Given the description of an element on the screen output the (x, y) to click on. 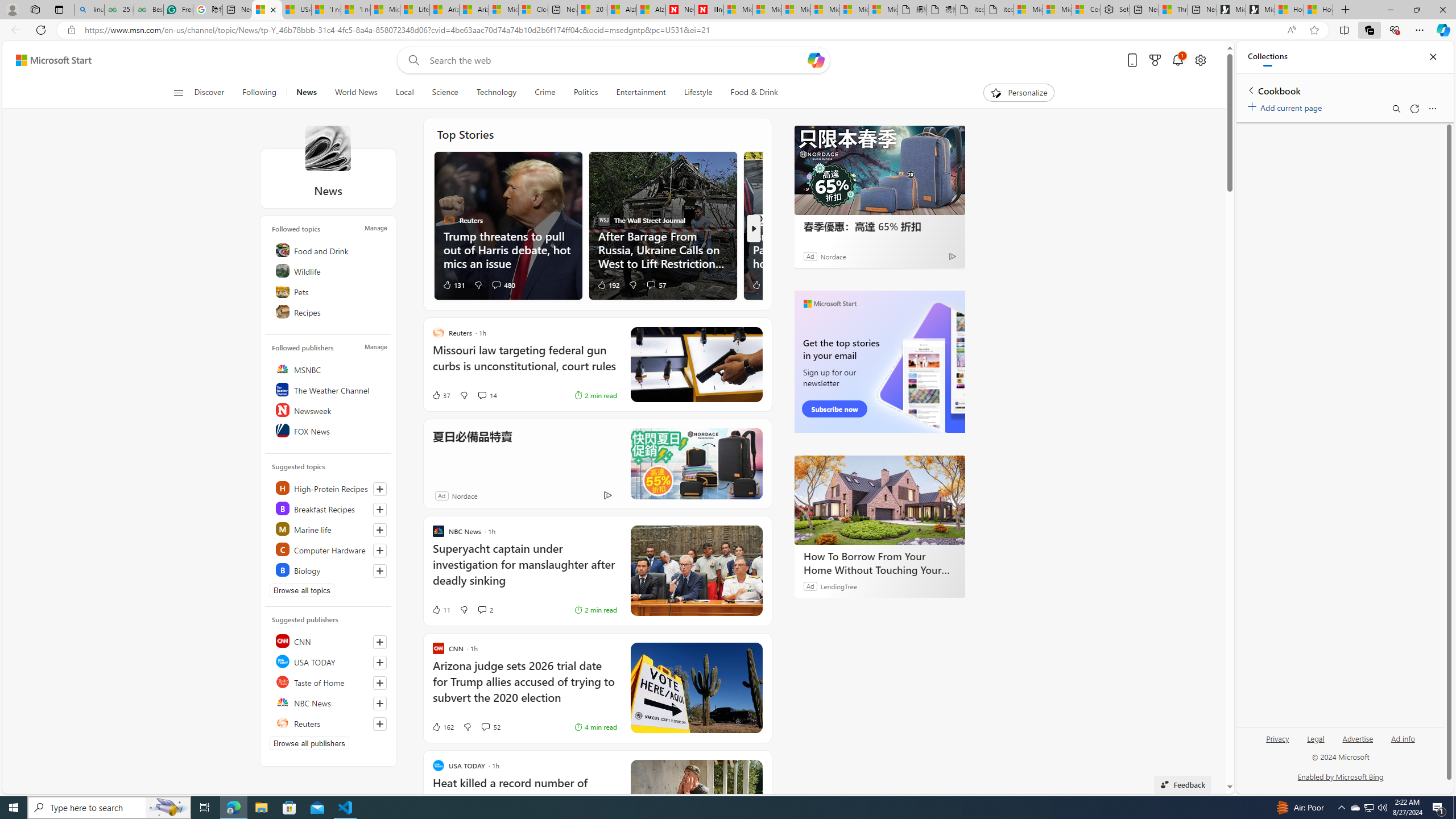
162 Like (442, 726)
Best SSL Certificates Provider in India - GeeksforGeeks (148, 9)
Recipes (328, 311)
69 Like (760, 284)
Subscribe now (834, 408)
USA TODAY - MSN (295, 9)
Consumer Health Data Privacy Policy (1086, 9)
